Given the description of an element on the screen output the (x, y) to click on. 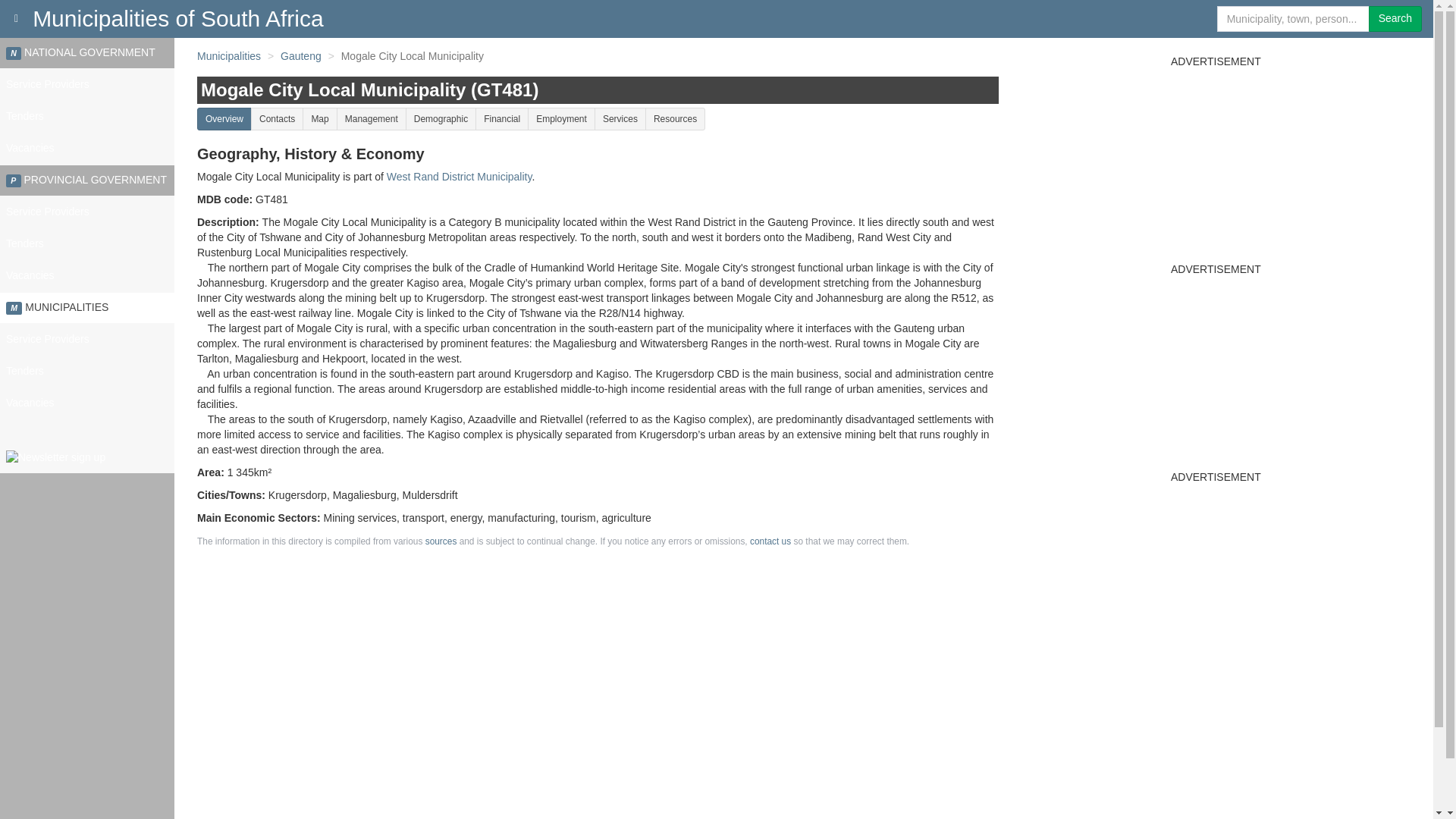
Resources (674, 118)
Financial (502, 118)
Tenders (87, 116)
N NATIONAL GOVERNMENT (87, 52)
Services (620, 118)
Demographic (441, 118)
Overview (223, 118)
Service Providers (87, 84)
contact us (769, 541)
sources (441, 541)
